Given the description of an element on the screen output the (x, y) to click on. 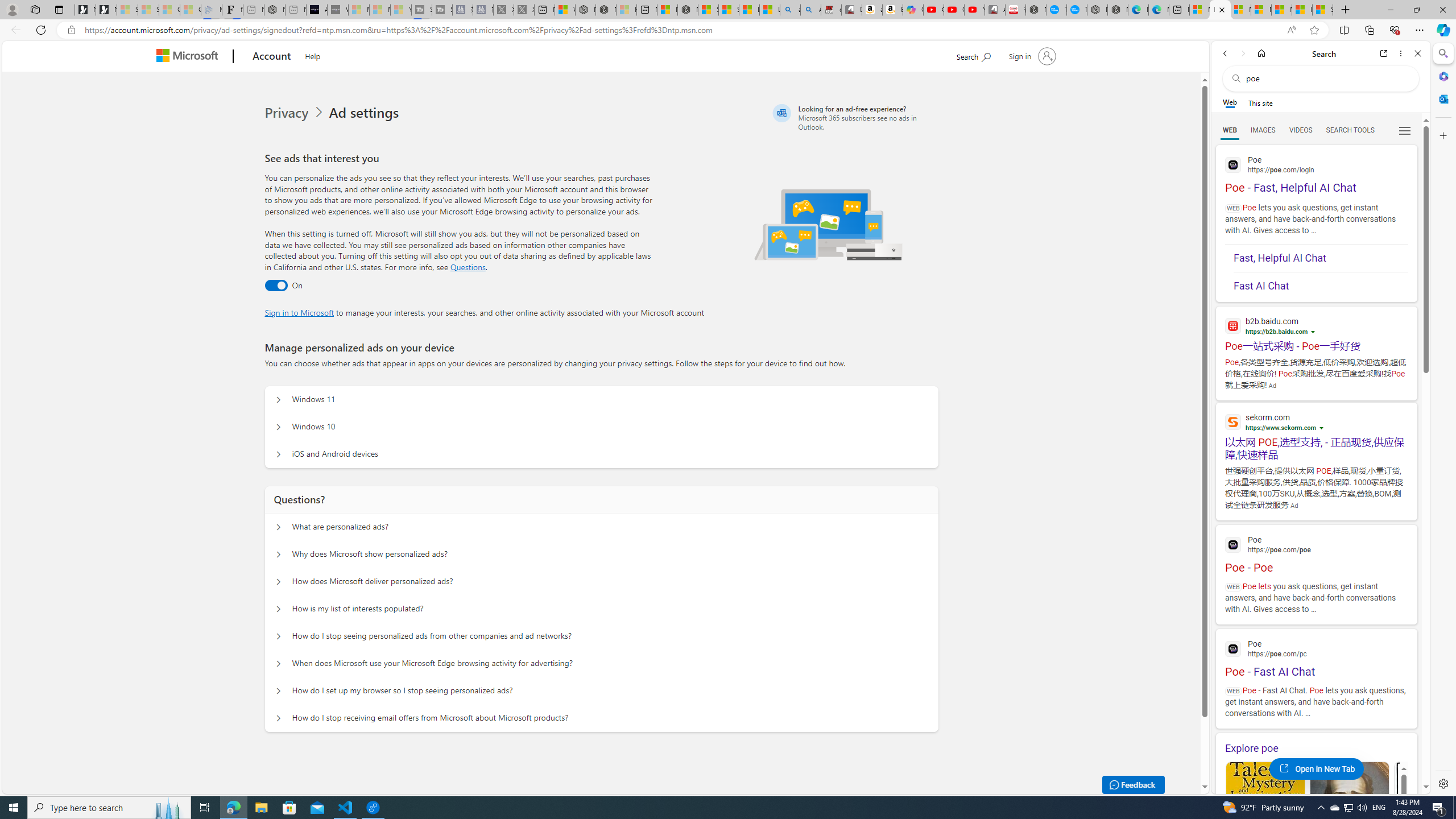
Sign in to Microsoft (299, 311)
SERP,5400 (1315, 345)
Ad settings (366, 112)
WEB   (1230, 130)
Manage personalized ads on your device Windows 11 (278, 400)
Global web icon (1232, 648)
Nordace - My Account (1035, 9)
